Given the description of an element on the screen output the (x, y) to click on. 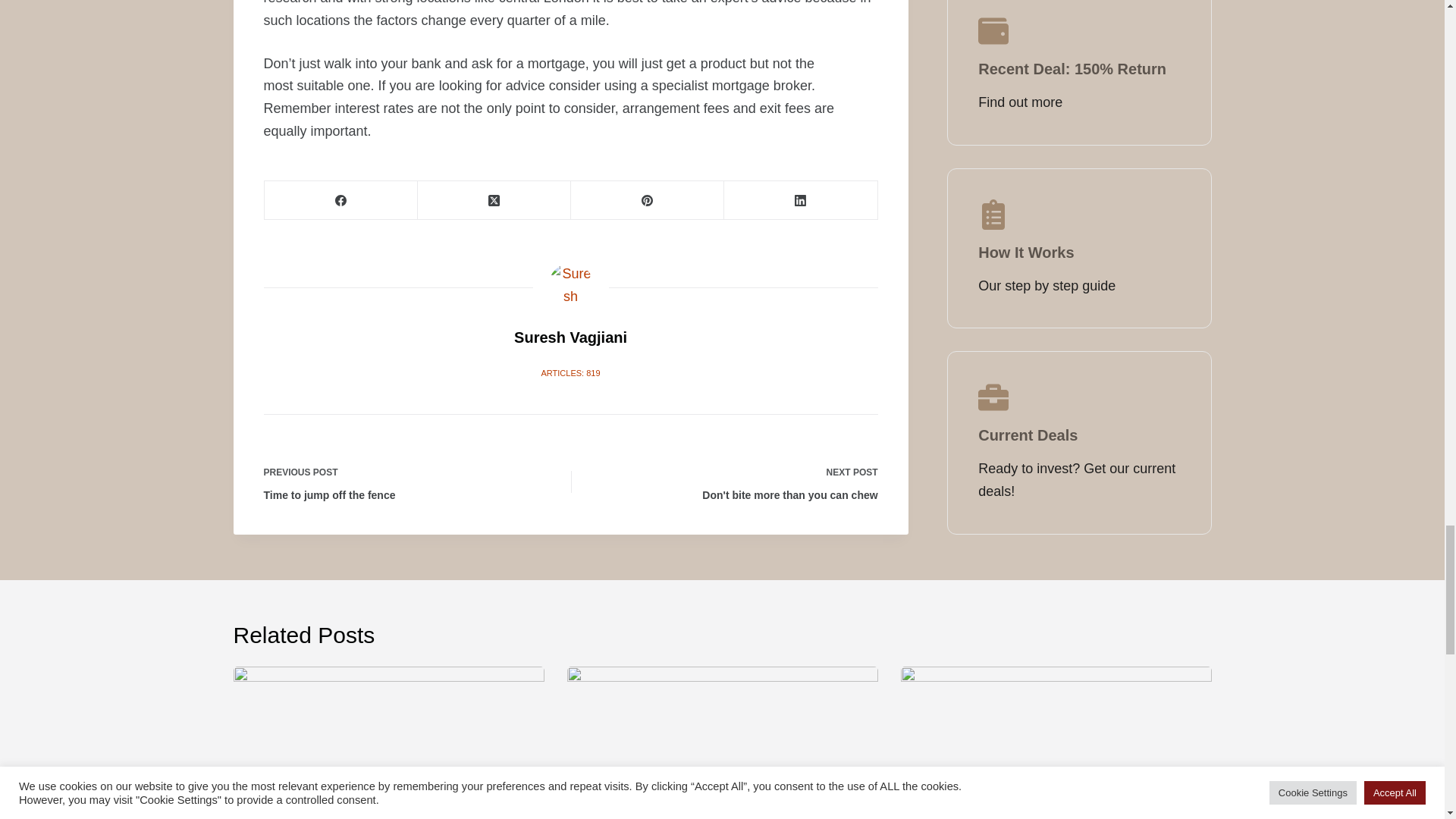
ARTICLES: 819 (570, 373)
